Given the description of an element on the screen output the (x, y) to click on. 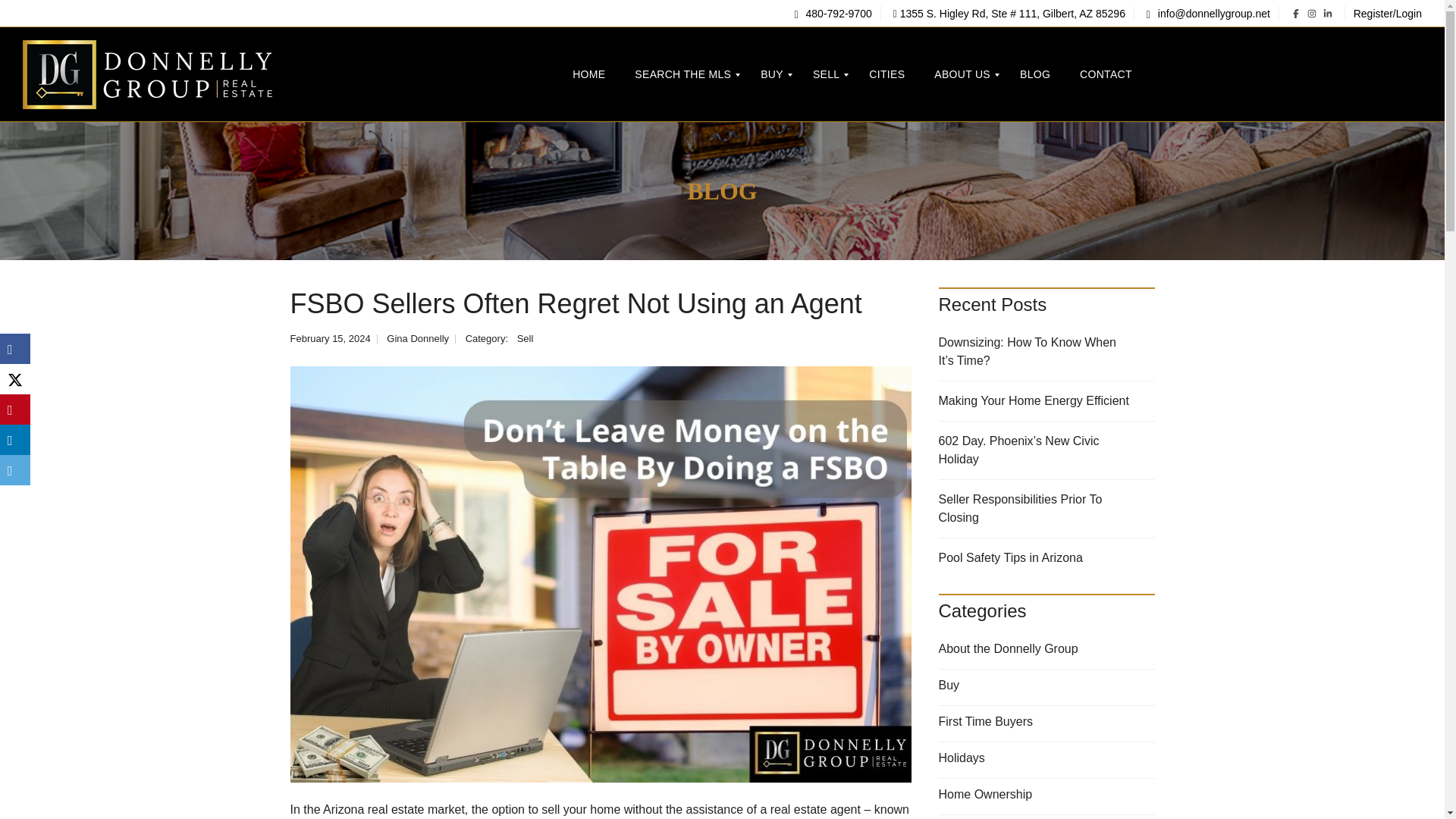
Sell (525, 337)
Donnelly Group Real Estate (147, 74)
480-792-9700 (833, 13)
SEARCH THE MLS (682, 74)
